Given the description of an element on the screen output the (x, y) to click on. 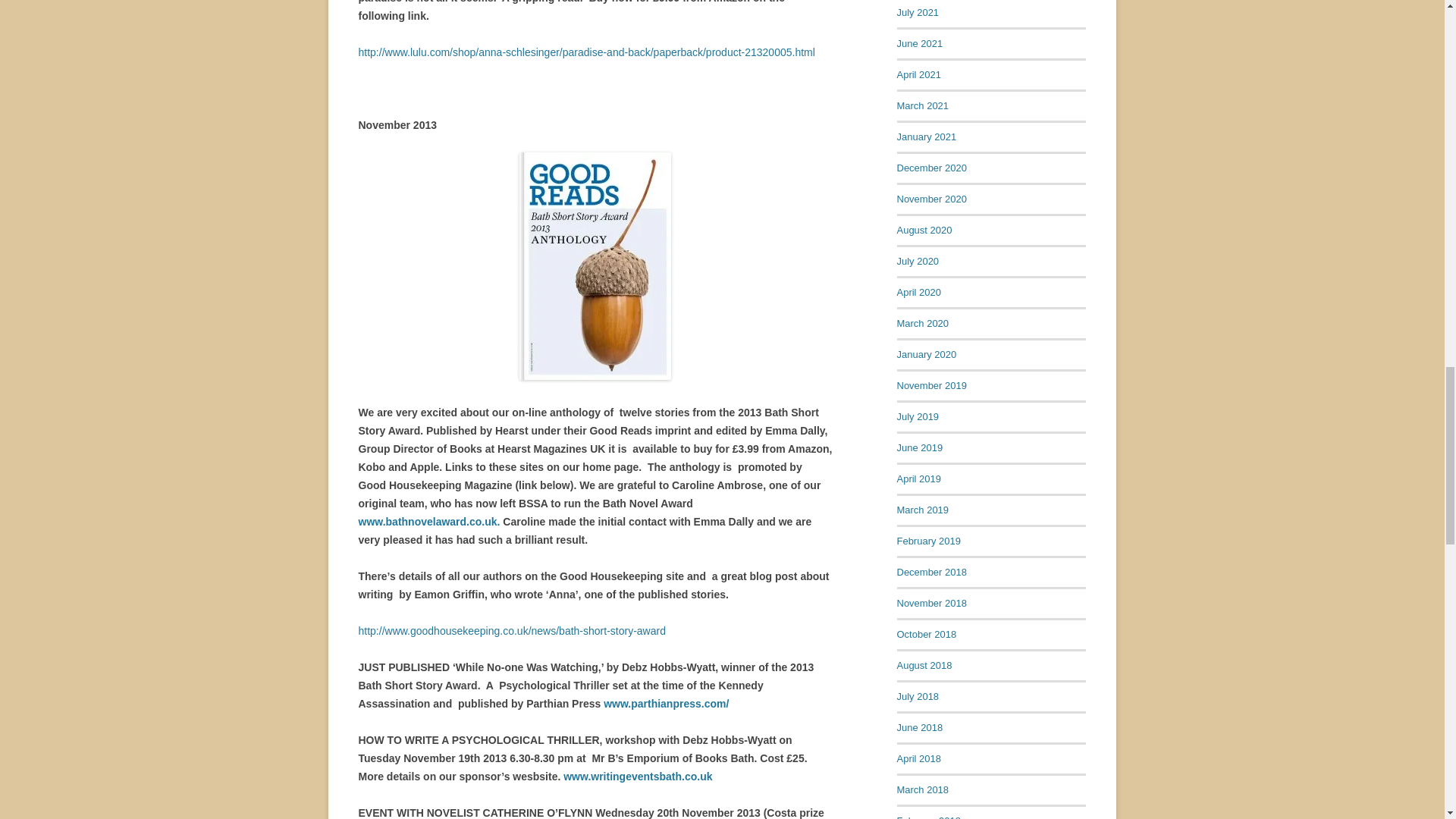
writingeventsbath (637, 776)
www.writingeventsbath.co.uk (637, 776)
www.bathnovelaward.co.uk. (428, 521)
parthianpress (666, 703)
